Given the description of an element on the screen output the (x, y) to click on. 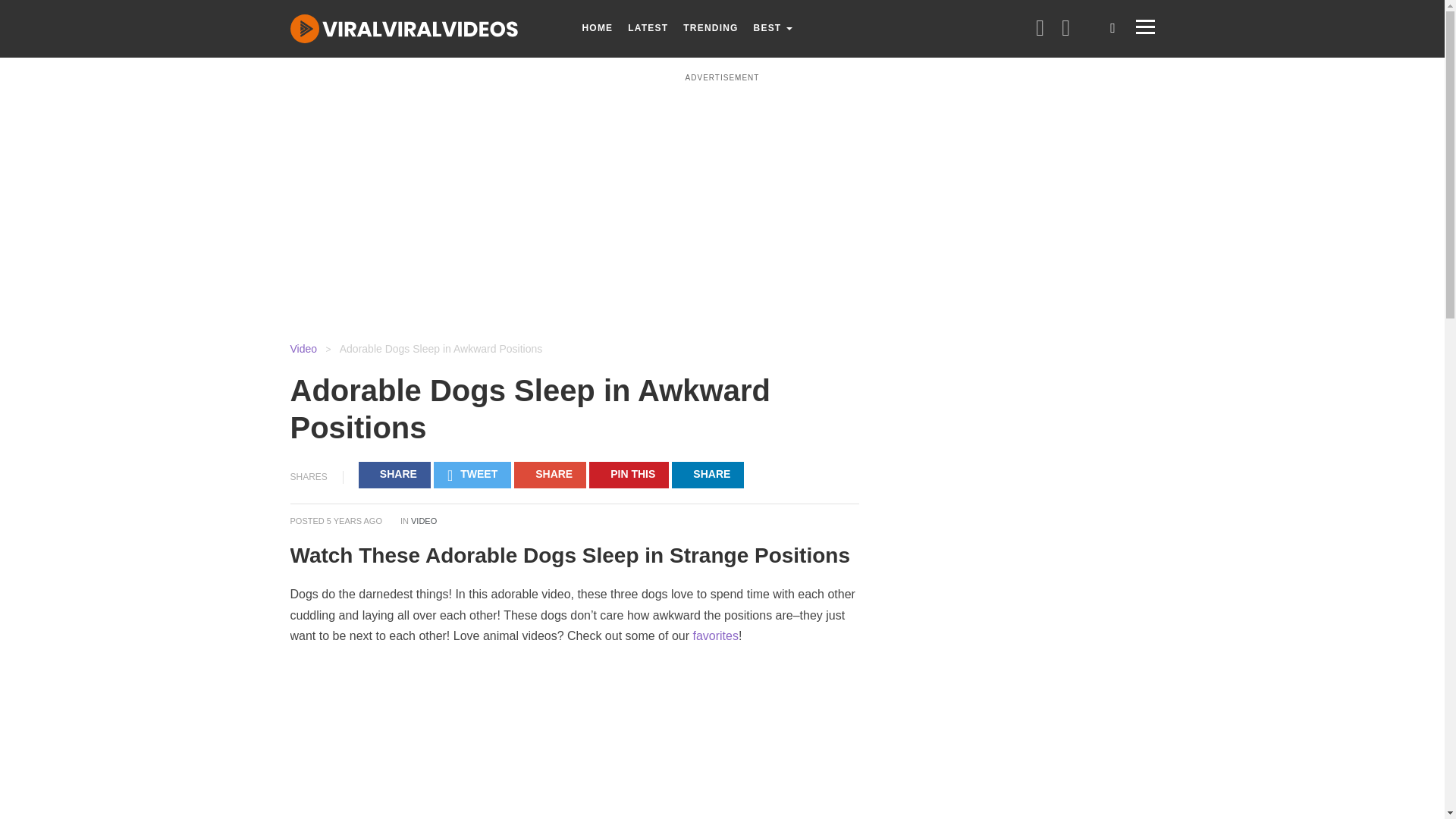
TWEET (472, 474)
SHARE (394, 474)
BEST (772, 28)
SHARE (707, 474)
VIDEO (423, 520)
TRENDING (710, 28)
Go to the Video category archives. (303, 348)
Video (303, 348)
LATEST (647, 28)
Advertisement (721, 197)
SHARE (549, 474)
PIN THIS (628, 474)
